Given the description of an element on the screen output the (x, y) to click on. 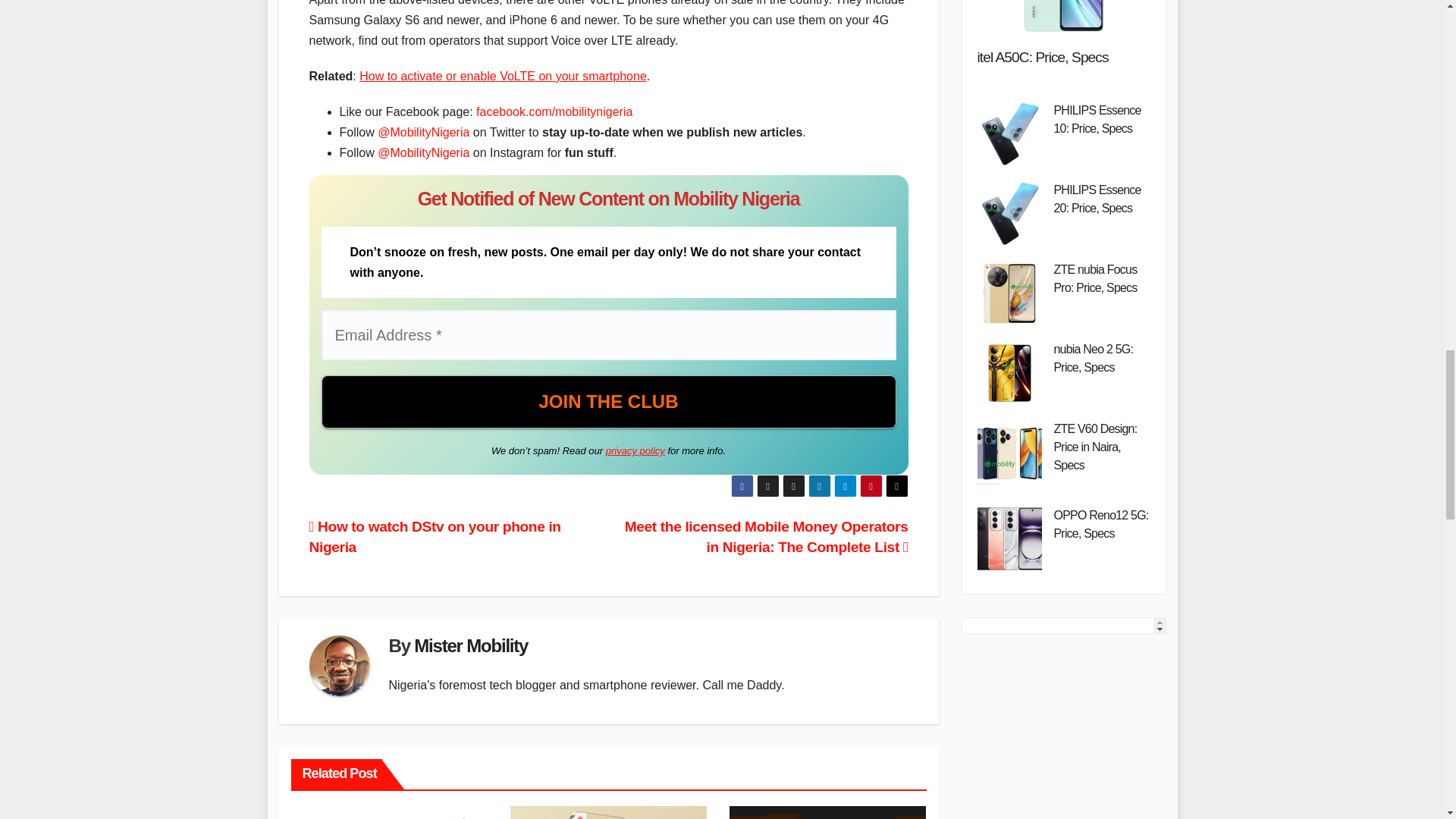
JOIN THE CLUB (608, 401)
Email Address (608, 335)
